Given the description of an element on the screen output the (x, y) to click on. 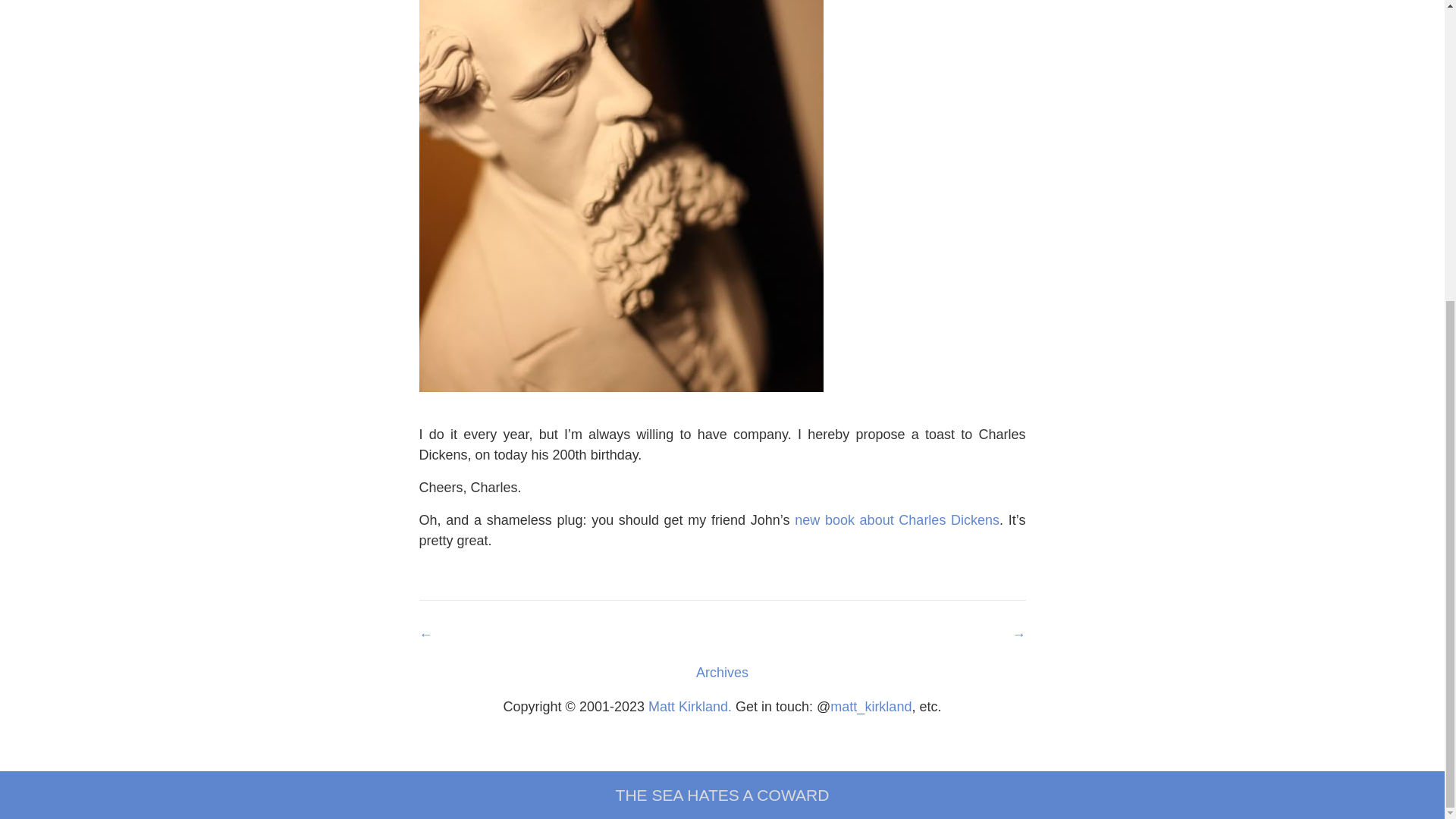
Archives (721, 672)
new book about Charles Dickens (896, 519)
Matt Kirkland. (689, 706)
